Given the description of an element on the screen output the (x, y) to click on. 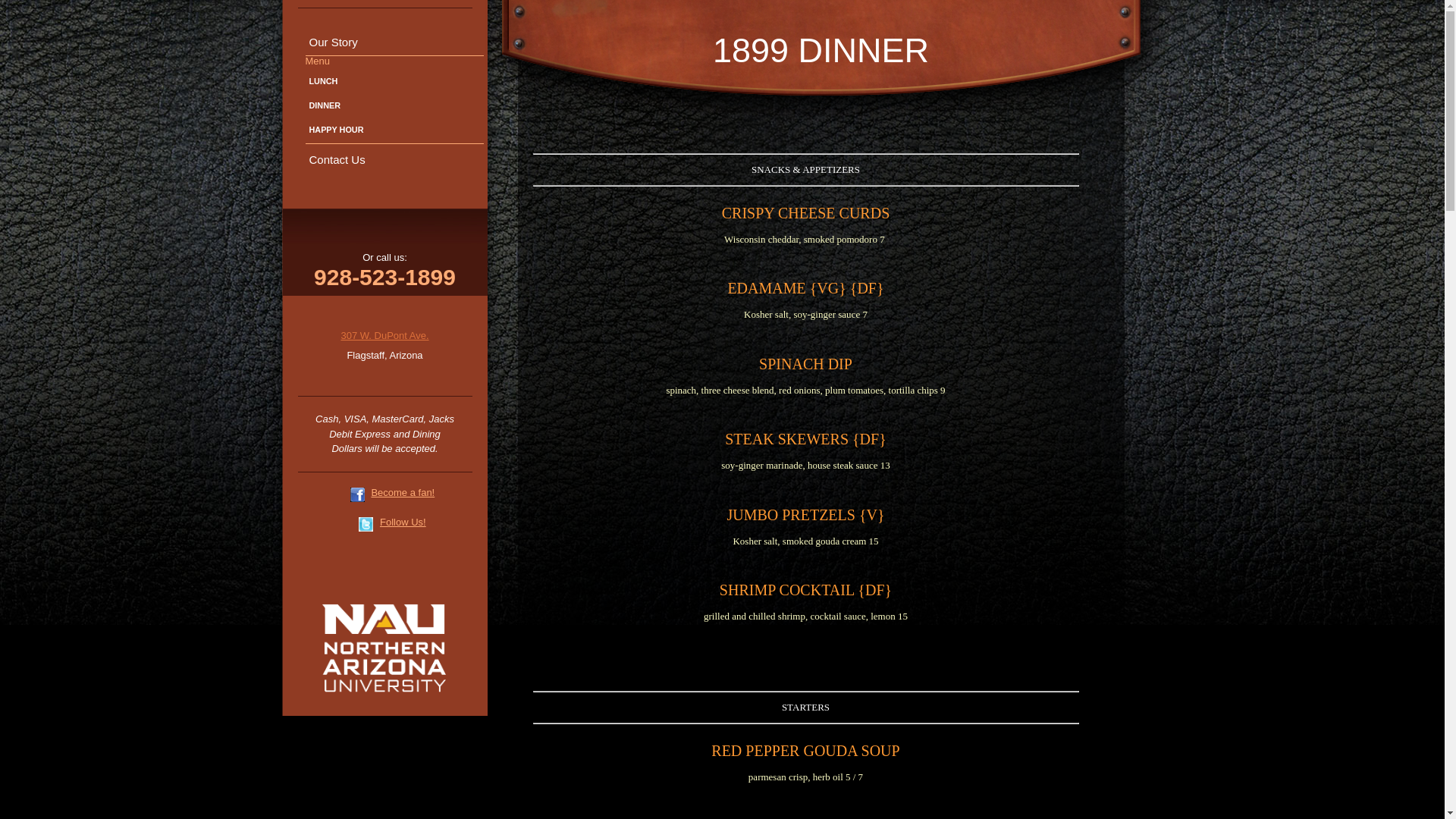
Become a fan! Element type: text (402, 492)
307 W. DuPont Ave. Element type: text (384, 335)
Our Story Element type: text (393, 42)
HAPPY HOUR Element type: text (393, 130)
DINNER Element type: text (393, 105)
Follow Us! Element type: text (402, 521)
Contact Us Element type: text (393, 159)
LUNCH Element type: text (393, 81)
